Given the description of an element on the screen output the (x, y) to click on. 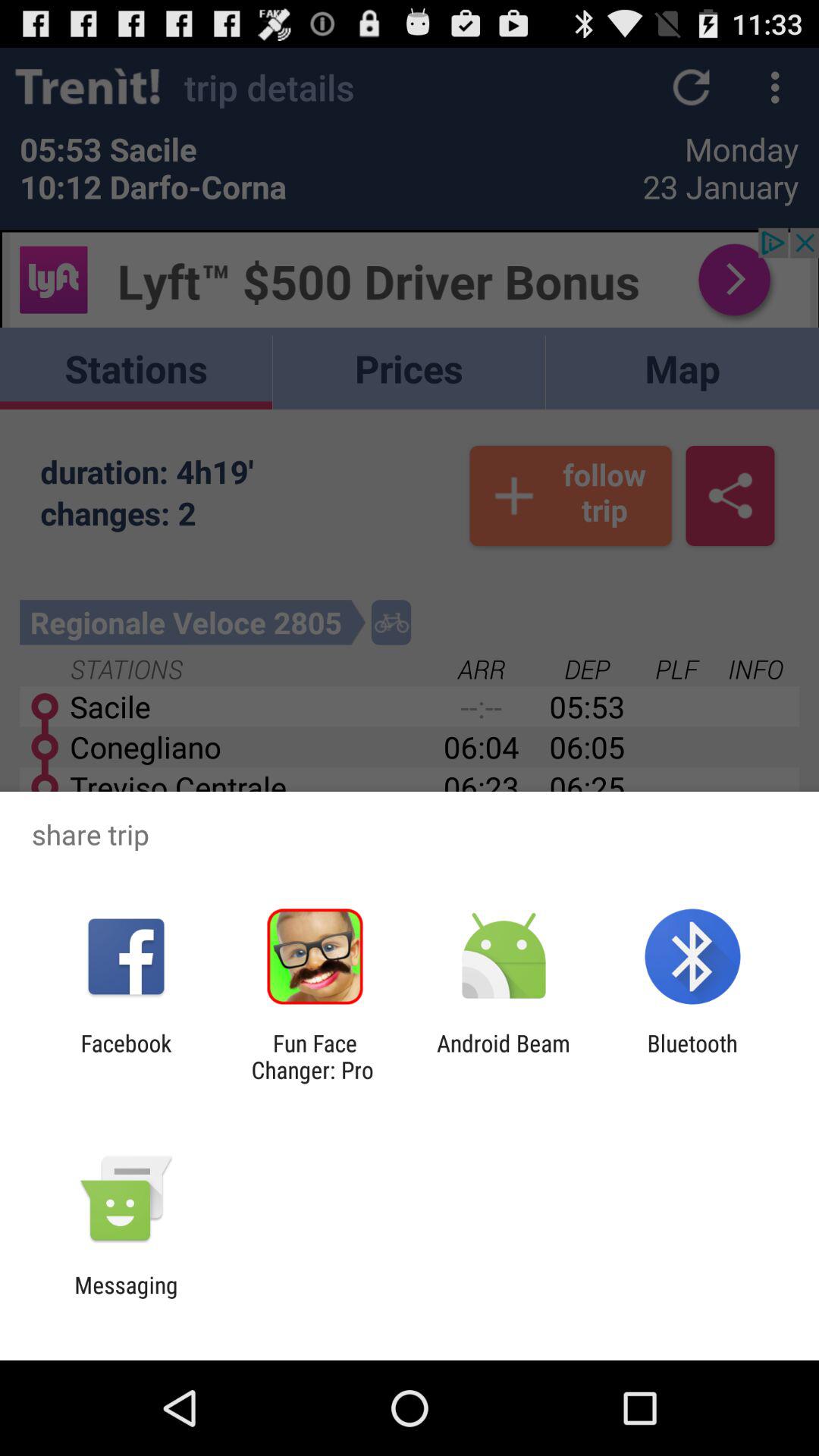
jump until the fun face changer item (314, 1056)
